Given the description of an element on the screen output the (x, y) to click on. 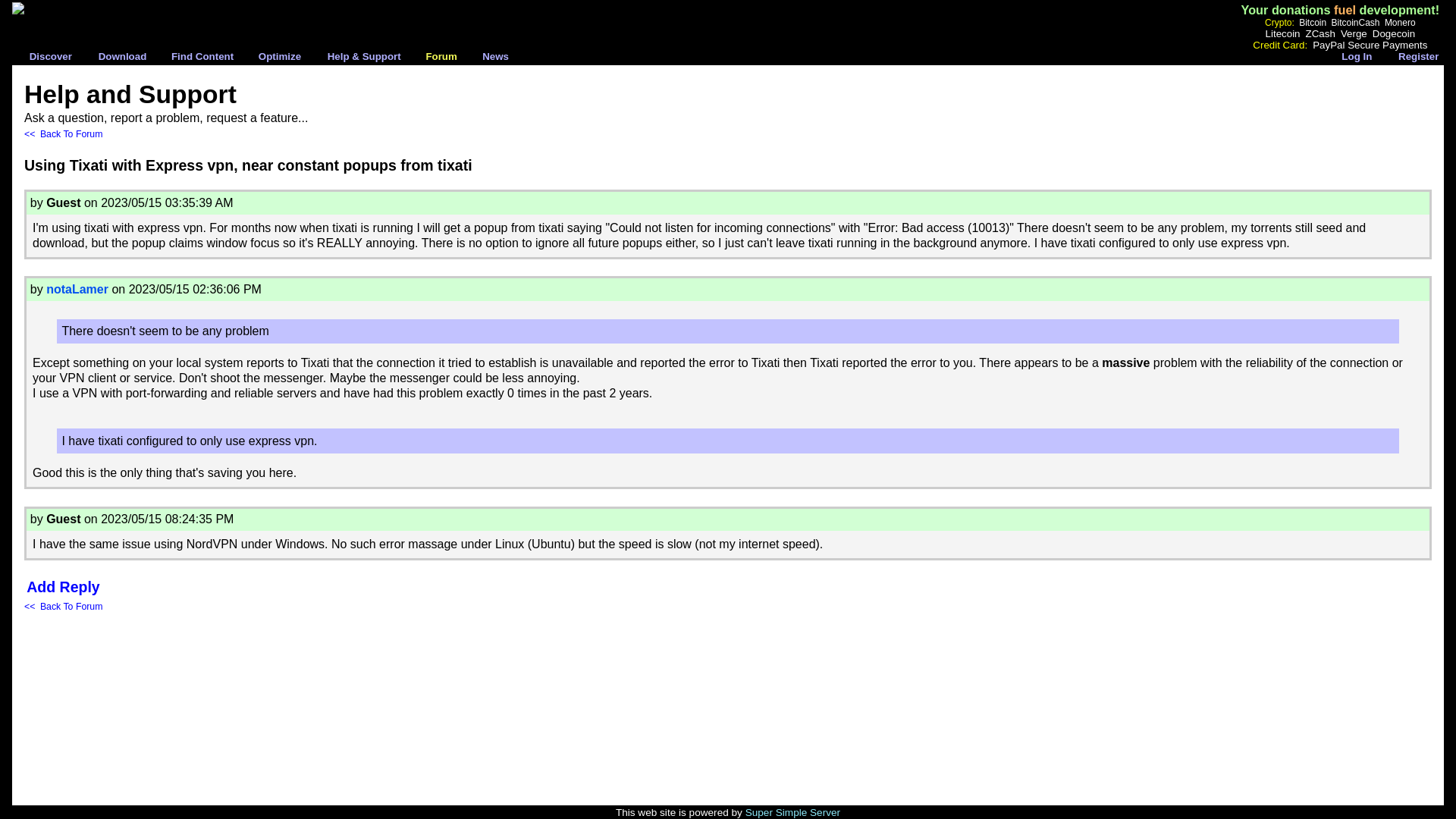
Bitcoin (1312, 21)
Download (123, 56)
Dogecoin (1394, 33)
Verge (1353, 33)
Litecoin (1282, 33)
Super Simple Server (792, 811)
PayPal Secure Payments (1369, 44)
Find Content (201, 56)
Monero (1399, 21)
Optimize (280, 56)
